Given the description of an element on the screen output the (x, y) to click on. 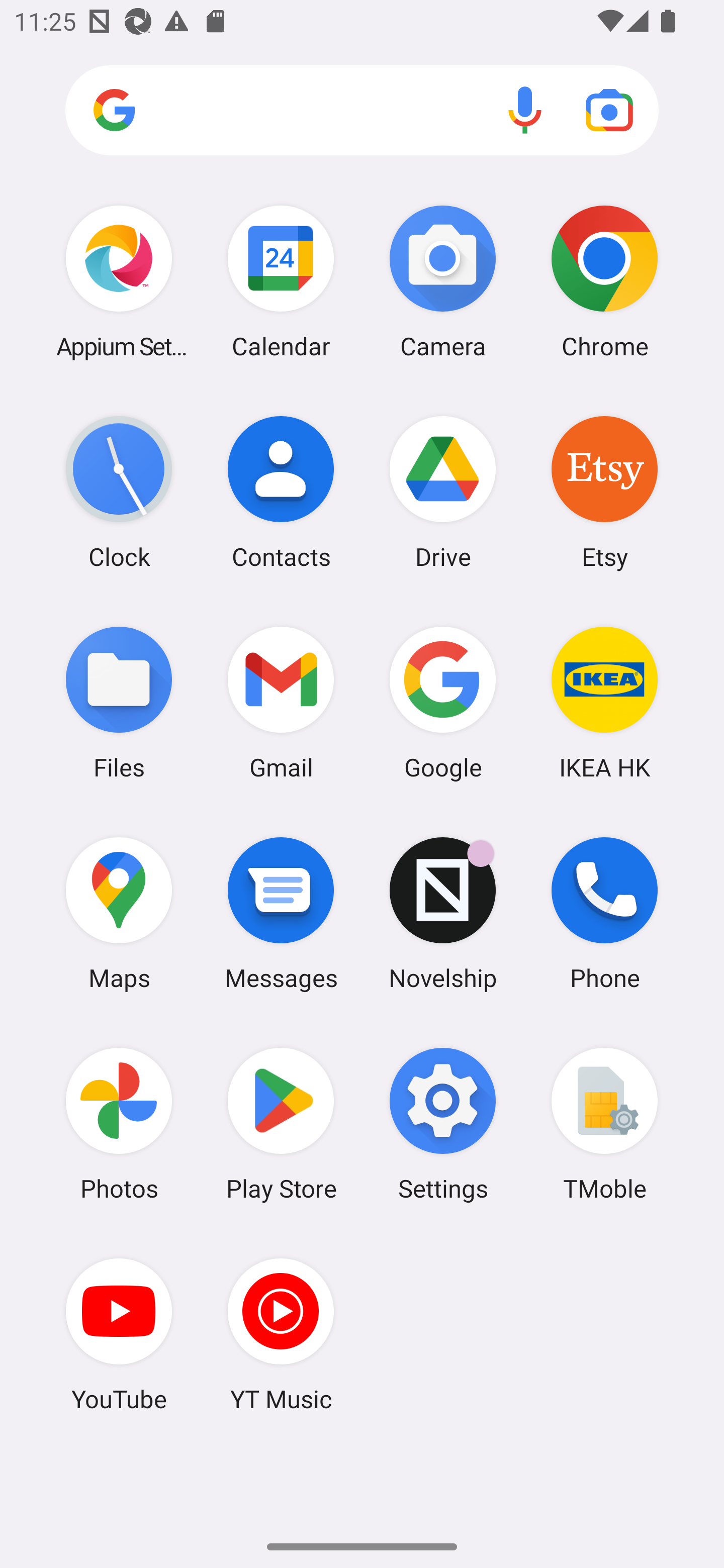
Search apps, web and more (361, 110)
Voice search (524, 109)
Google Lens (608, 109)
Appium Settings (118, 281)
Calendar (280, 281)
Camera (443, 281)
Chrome (604, 281)
Clock (118, 492)
Contacts (280, 492)
Drive (443, 492)
Etsy (604, 492)
Files (118, 702)
Gmail (280, 702)
Google (443, 702)
IKEA HK (604, 702)
Maps (118, 913)
Messages (280, 913)
Novelship Novelship has 2 notifications (443, 913)
Phone (604, 913)
Photos (118, 1124)
Play Store (280, 1124)
Settings (443, 1124)
TMoble (604, 1124)
YouTube (118, 1334)
YT Music (280, 1334)
